Given the description of an element on the screen output the (x, y) to click on. 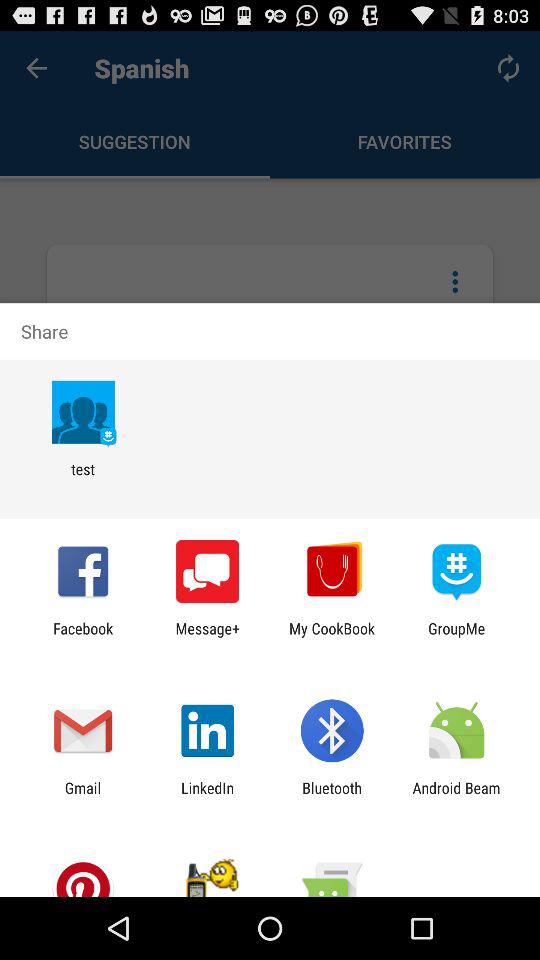
scroll until the android beam item (456, 796)
